Given the description of an element on the screen output the (x, y) to click on. 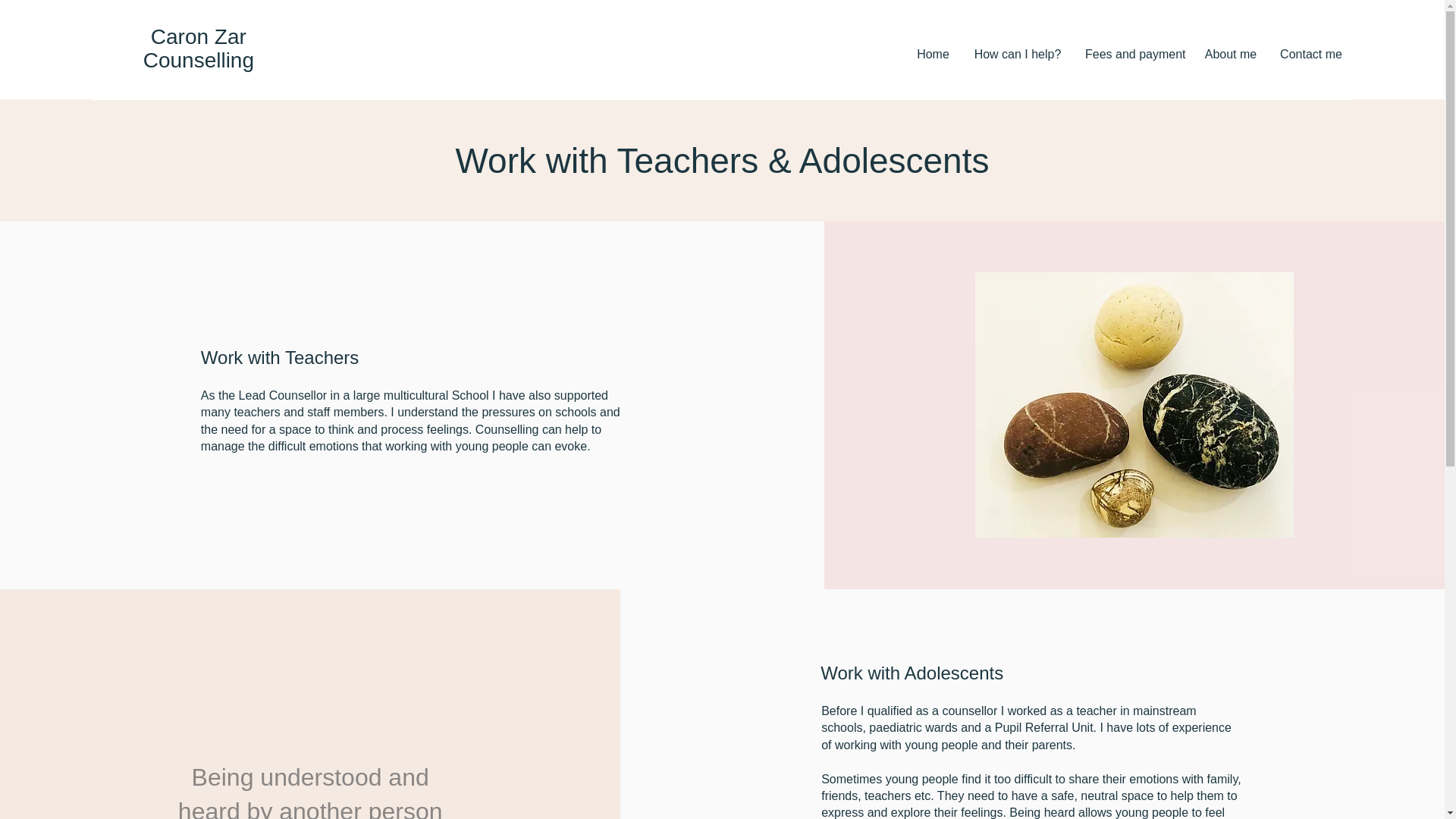
Caron Zar (198, 36)
About me (1230, 54)
How can I help? (1017, 54)
Home (932, 54)
Contact me (1311, 54)
Fees and payment (1133, 54)
